Given the description of an element on the screen output the (x, y) to click on. 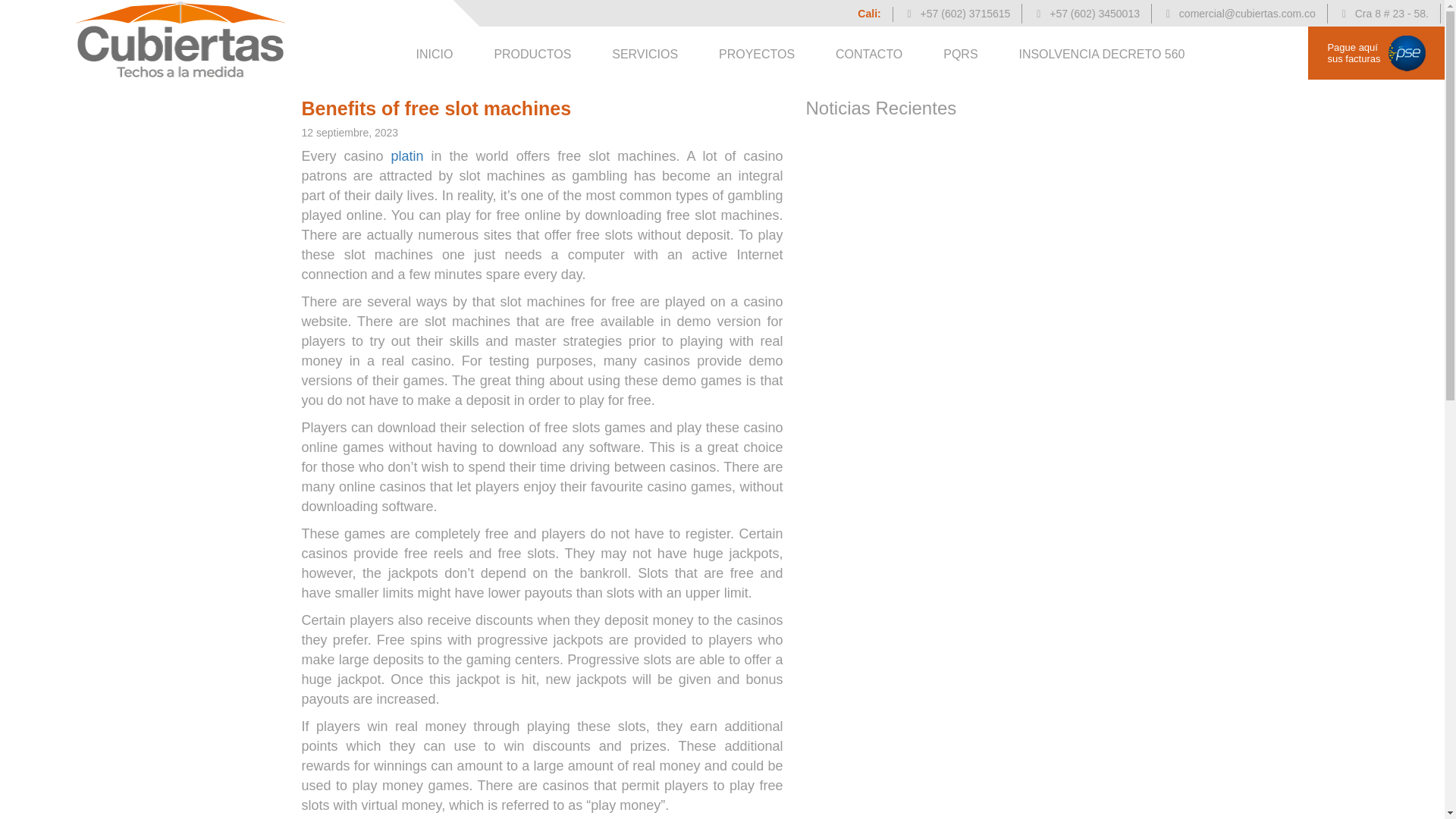
PQRS (959, 54)
INSOLVENCIA DECRETO 560 (1101, 54)
CONTACTO (868, 54)
platin (407, 155)
SERVICIOS (644, 54)
PRODUCTOS (531, 54)
PROYECTOS (756, 54)
INICIO (434, 54)
